Given the description of an element on the screen output the (x, y) to click on. 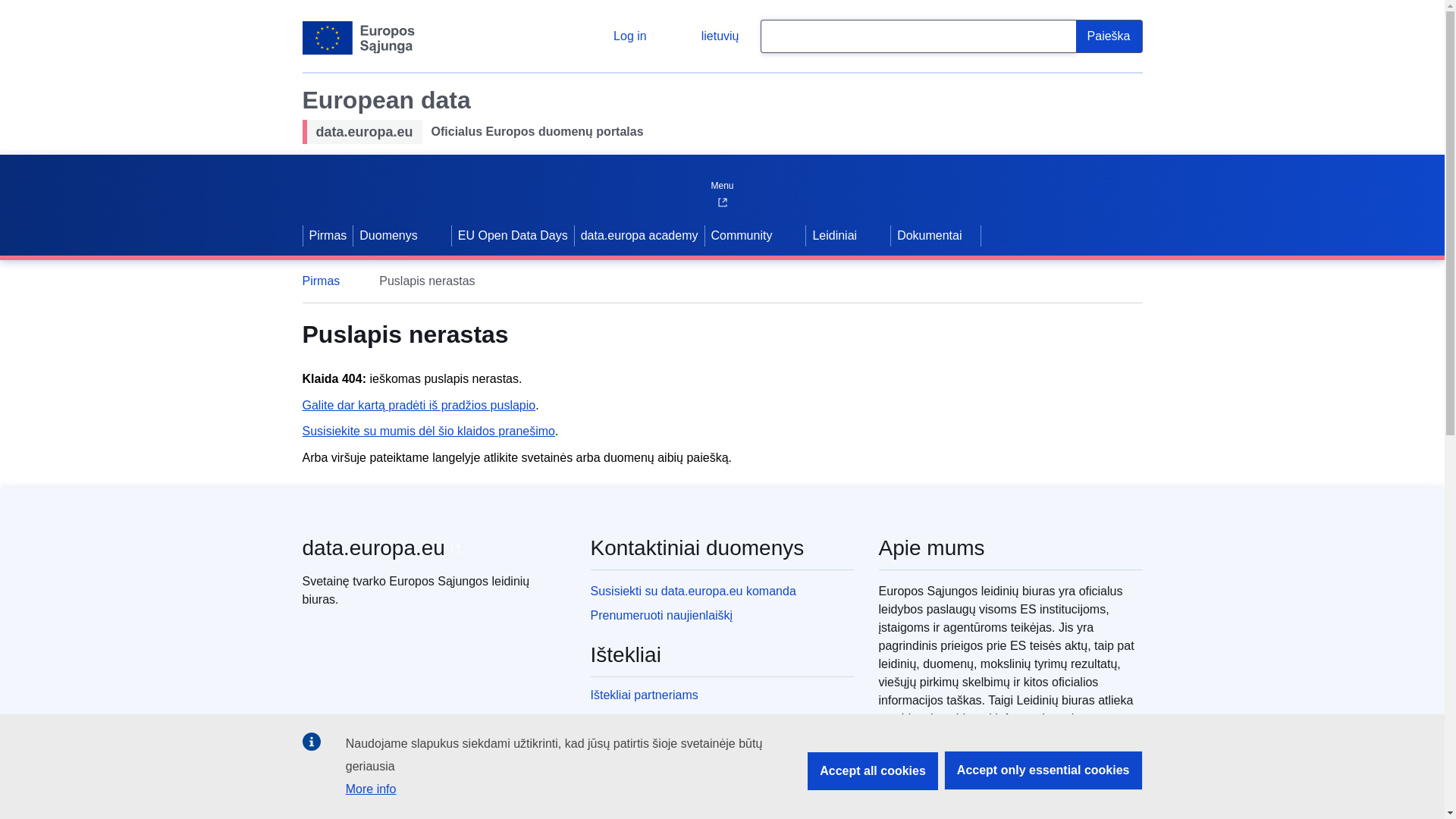
Community (740, 235)
Pirmas (327, 235)
Menu (721, 181)
Log in (617, 36)
Dokumentai (935, 235)
data.europa academy (639, 235)
European Union (357, 37)
Leidiniai (833, 235)
Pirmas (328, 280)
Duomenys (386, 235)
EU Open Data Days (512, 235)
